Given the description of an element on the screen output the (x, y) to click on. 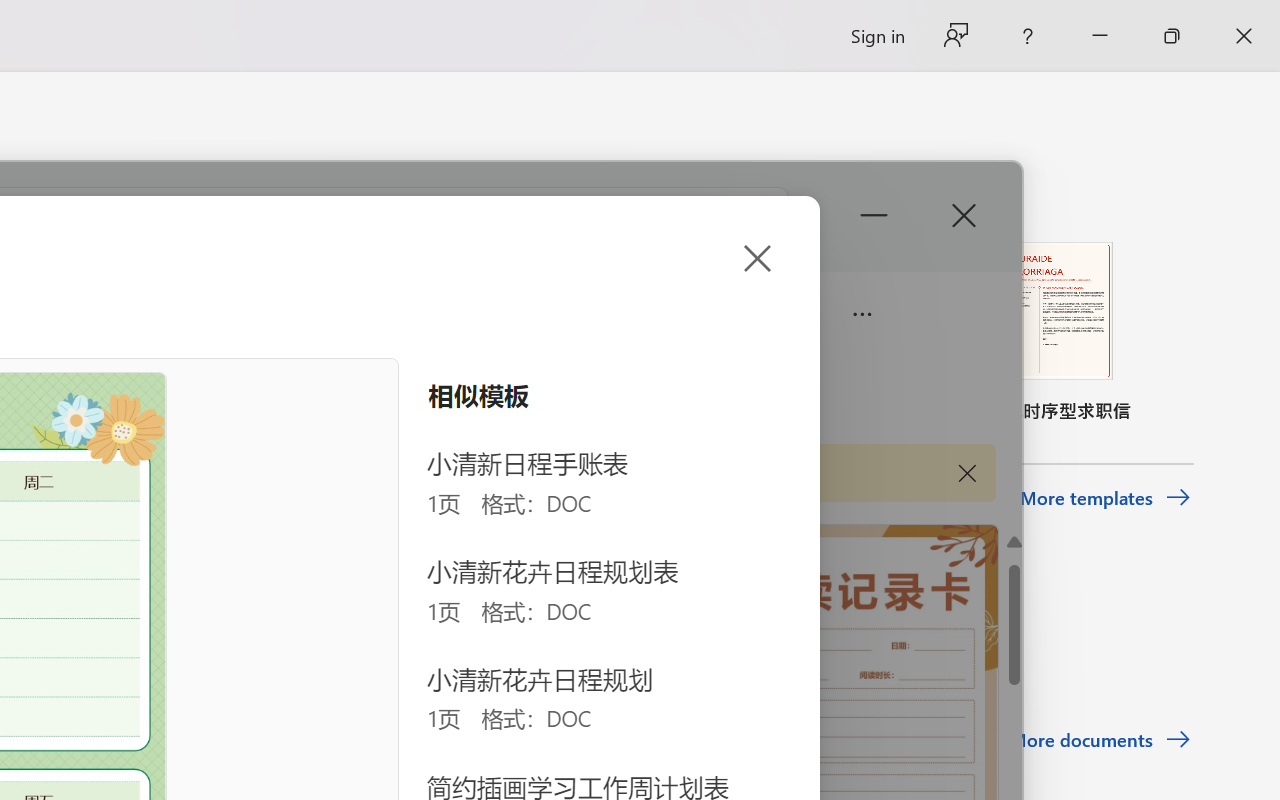
Sign in (875, 35)
More templates (1105, 498)
More documents (1100, 740)
